Given the description of an element on the screen output the (x, y) to click on. 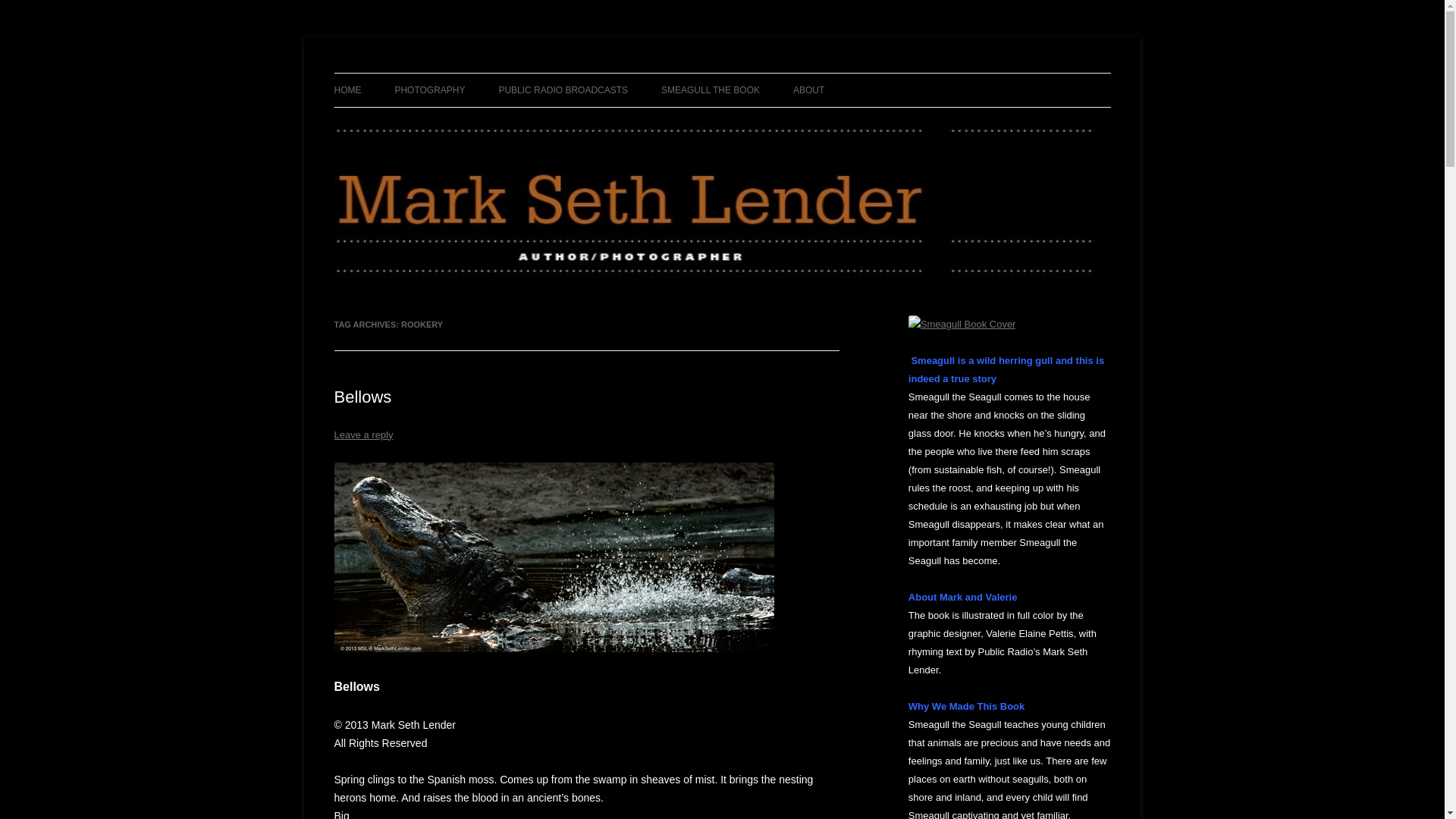
PHOTOGRAPHY (429, 90)
Big Bull Alligator (553, 556)
SMEAGULL THE BOOK (710, 90)
PUBLIC RADIO BROADCASTS (562, 90)
Leave a reply (363, 434)
ABOUT (808, 90)
Bellows (362, 396)
